Given the description of an element on the screen output the (x, y) to click on. 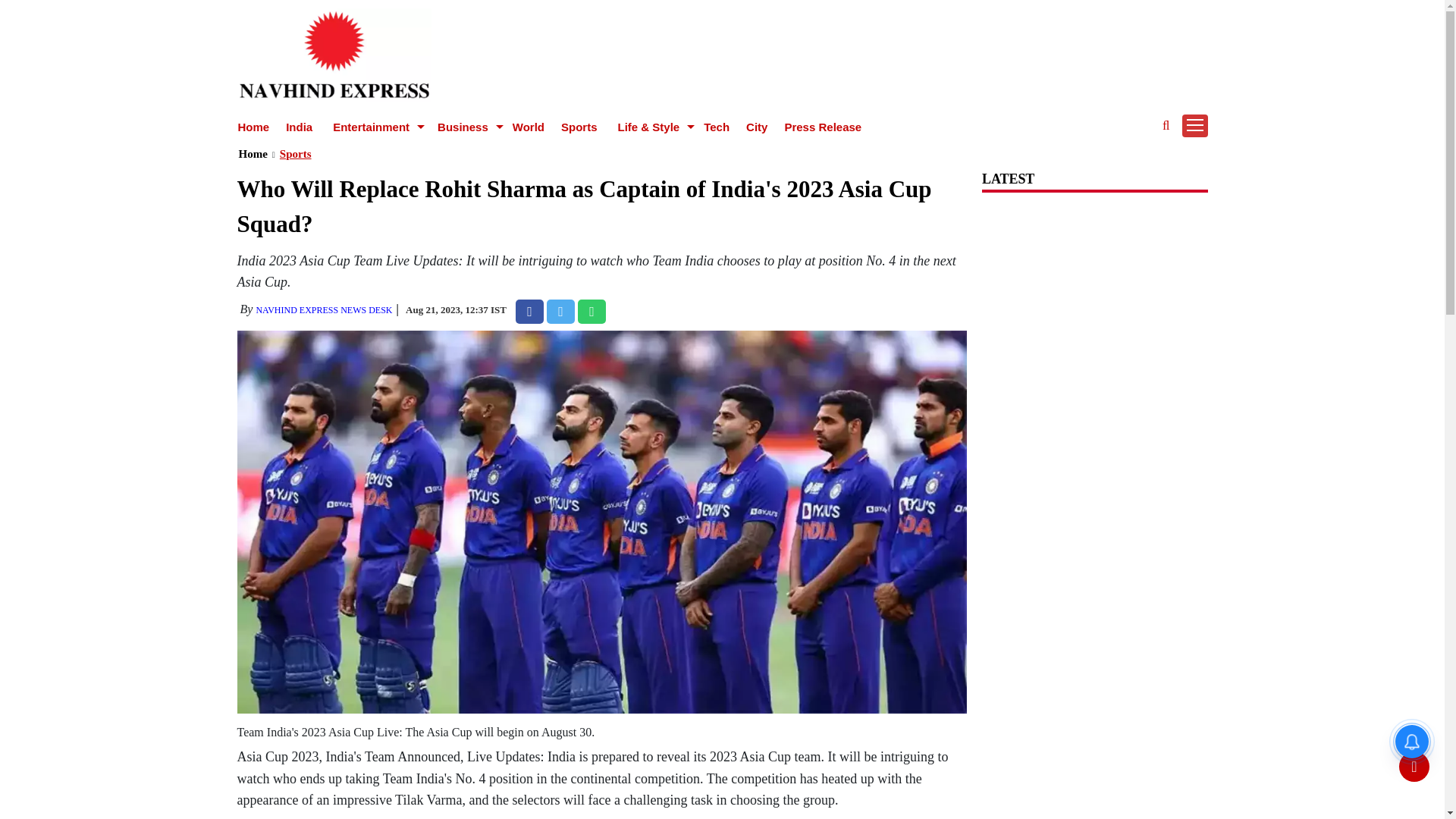
World (528, 126)
India (299, 126)
Business (464, 126)
Entertainment (372, 126)
Home (253, 126)
Tech (716, 126)
Sports (578, 126)
City (756, 126)
Press Release (822, 126)
